Given the description of an element on the screen output the (x, y) to click on. 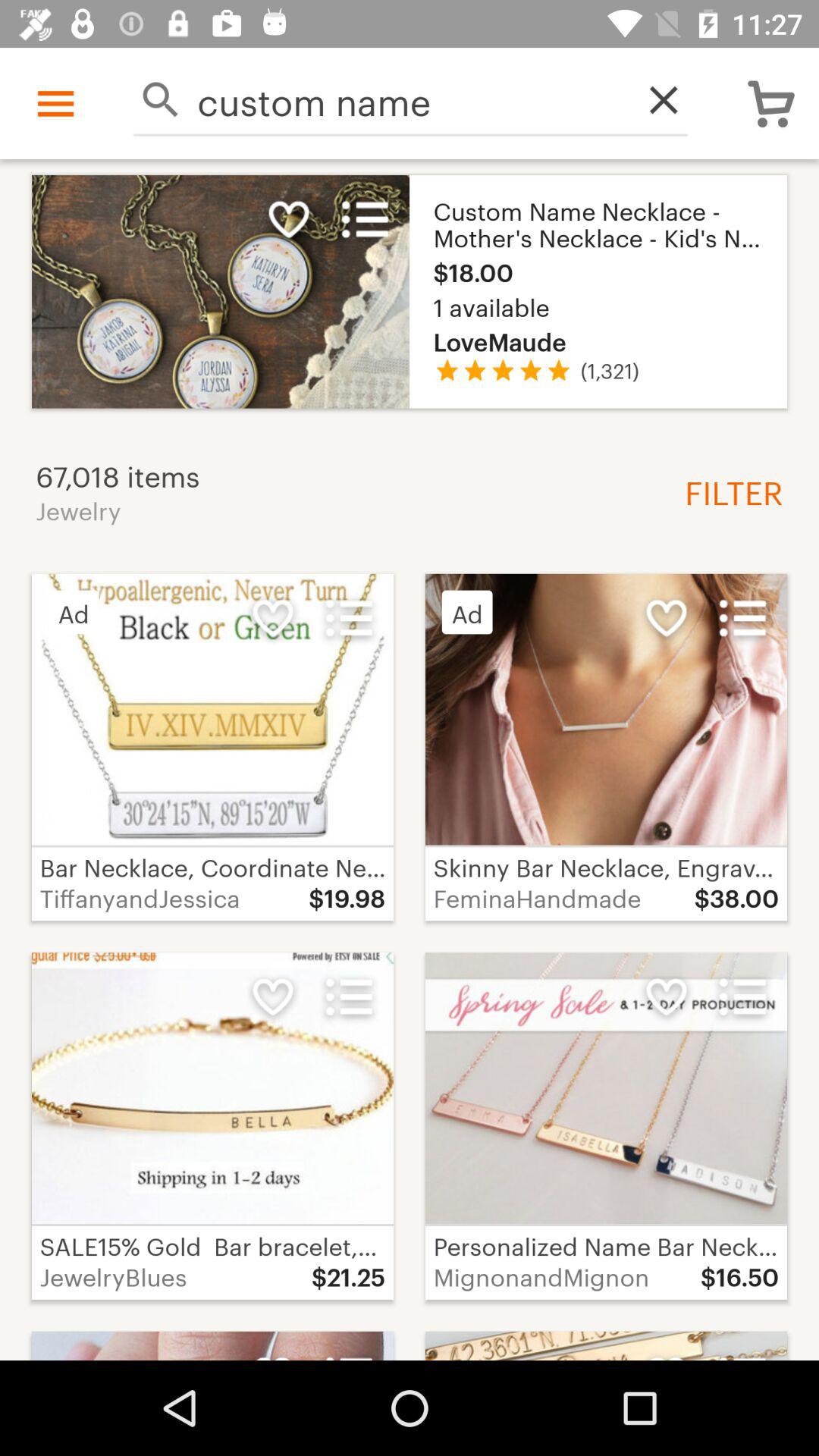
launch filter icon (727, 491)
